Given the description of an element on the screen output the (x, y) to click on. 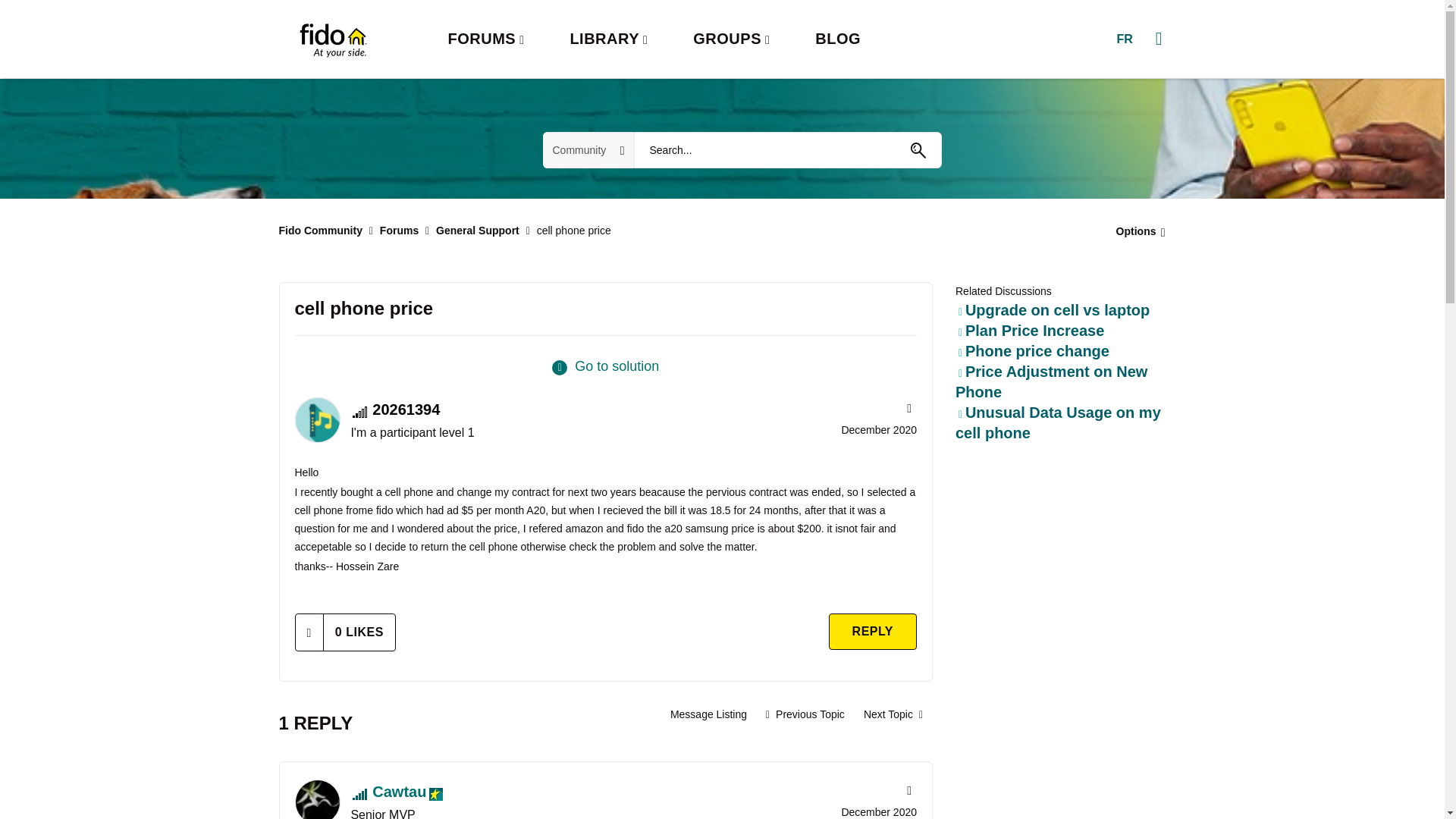
The total number of likes this post has received. (358, 632)
Fido Community (320, 230)
20261394 (316, 420)
FR (1124, 38)
Fido (332, 39)
Show option menu (1136, 230)
LIBRARY (608, 39)
General Support (477, 230)
Go (917, 149)
Go (917, 149)
